Given the description of an element on the screen output the (x, y) to click on. 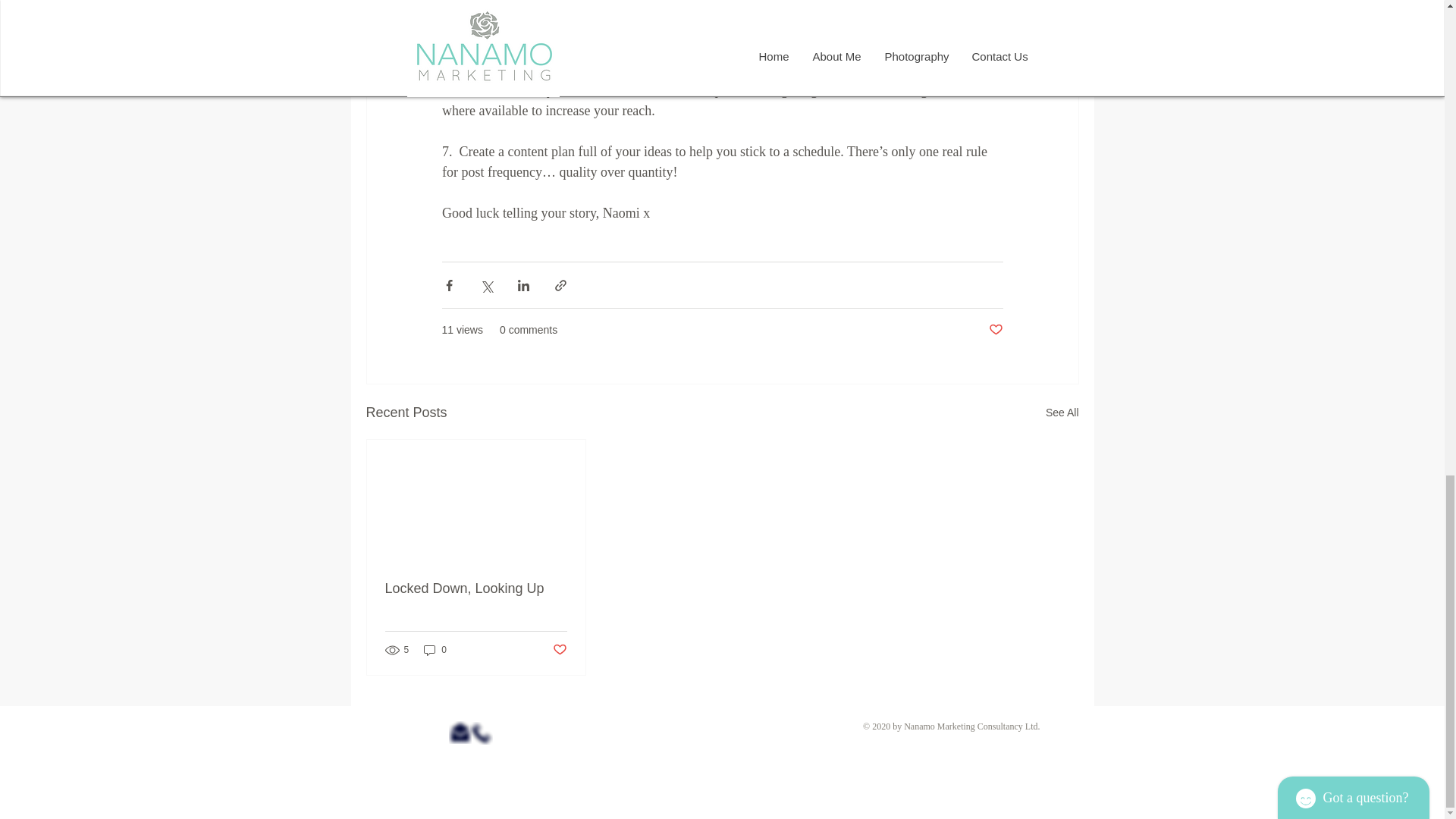
Post not marked as liked (558, 650)
0 (435, 649)
Post not marked as liked (995, 330)
Locked Down, Looking Up (476, 588)
See All (1061, 413)
